Given the description of an element on the screen output the (x, y) to click on. 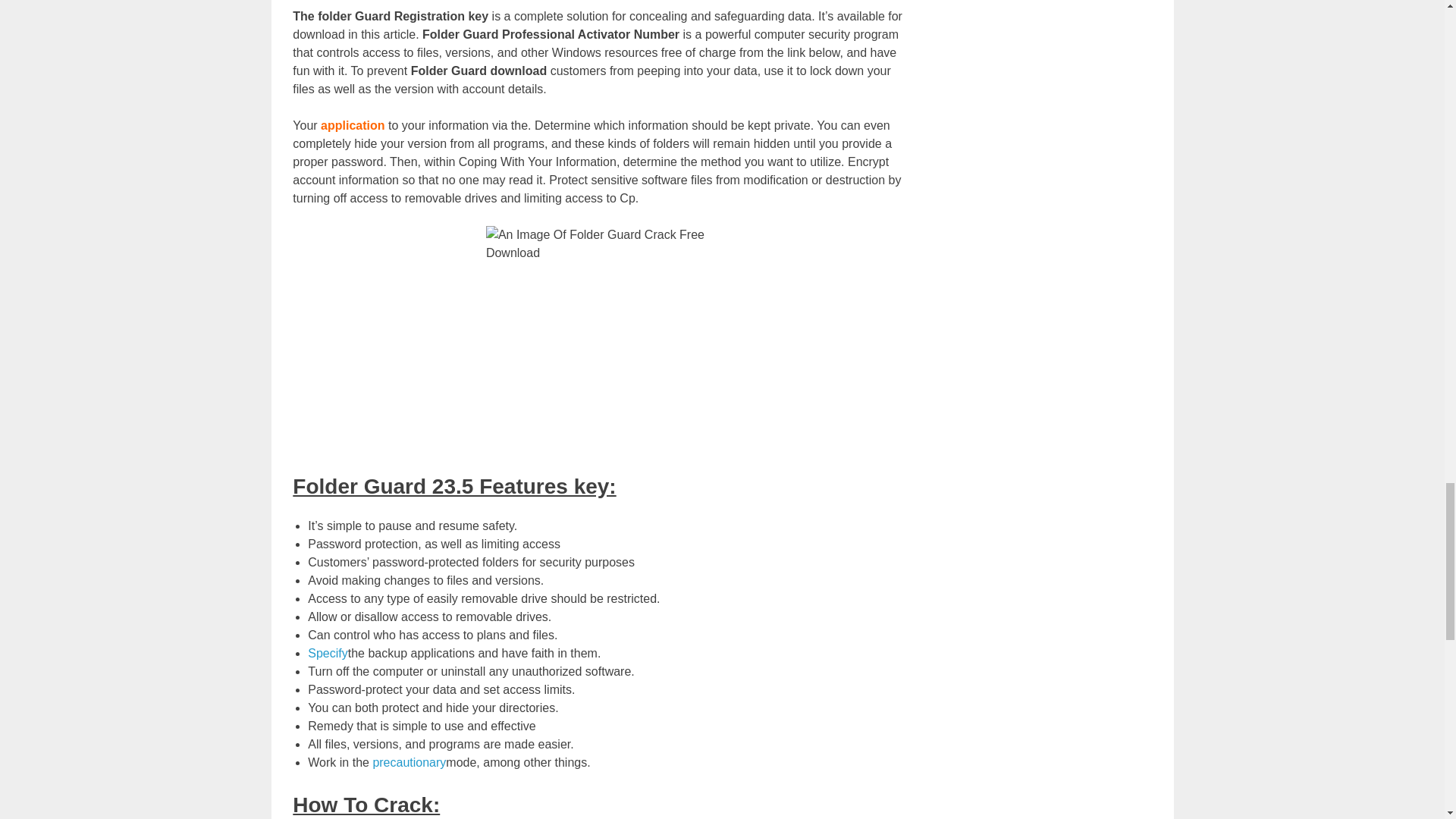
Specify (327, 653)
application (354, 124)
precautionary (408, 762)
